Given the description of an element on the screen output the (x, y) to click on. 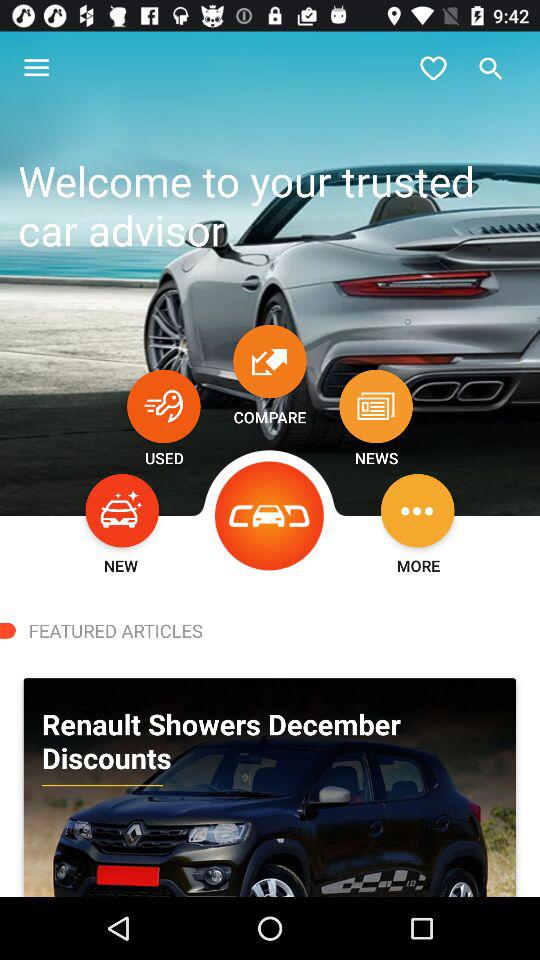
compare cars (269, 361)
